Given the description of an element on the screen output the (x, y) to click on. 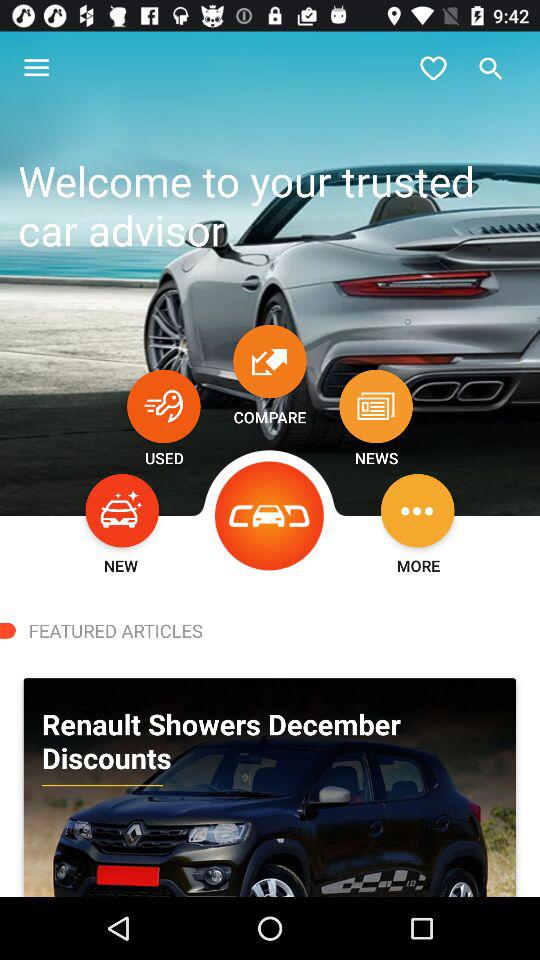
compare cars (269, 361)
